Given the description of an element on the screen output the (x, y) to click on. 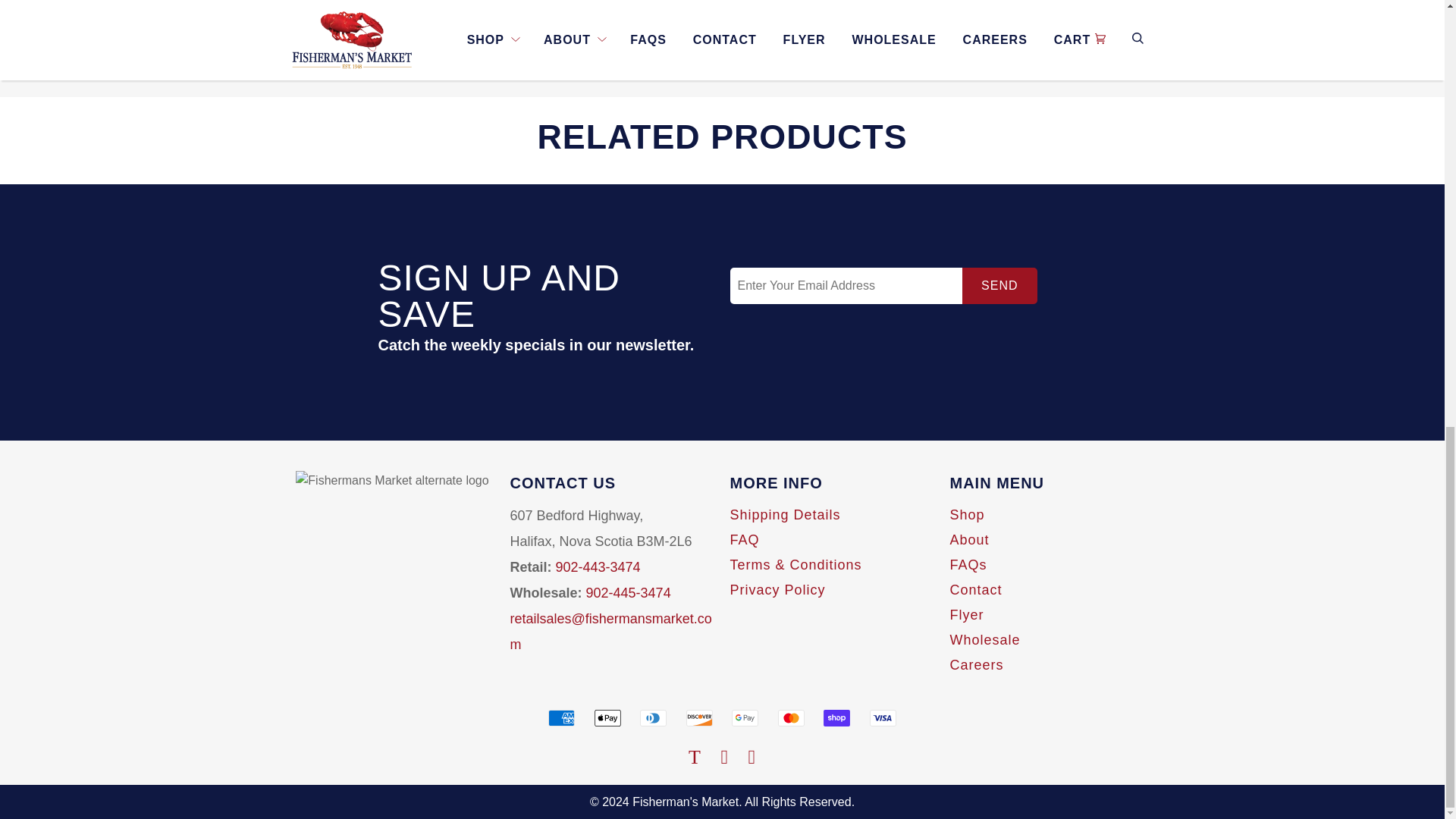
MASTERCARD (791, 718)
Send (999, 285)
AMERICAN EXPRESS (561, 718)
DINERS CLUB (653, 718)
Fisherman's Market on Twitter (694, 758)
APPLE PAY (607, 718)
DISCOVER (699, 718)
VISA (882, 718)
SHOP PAY (837, 718)
tel:9024453474 (628, 592)
